Given the description of an element on the screen output the (x, y) to click on. 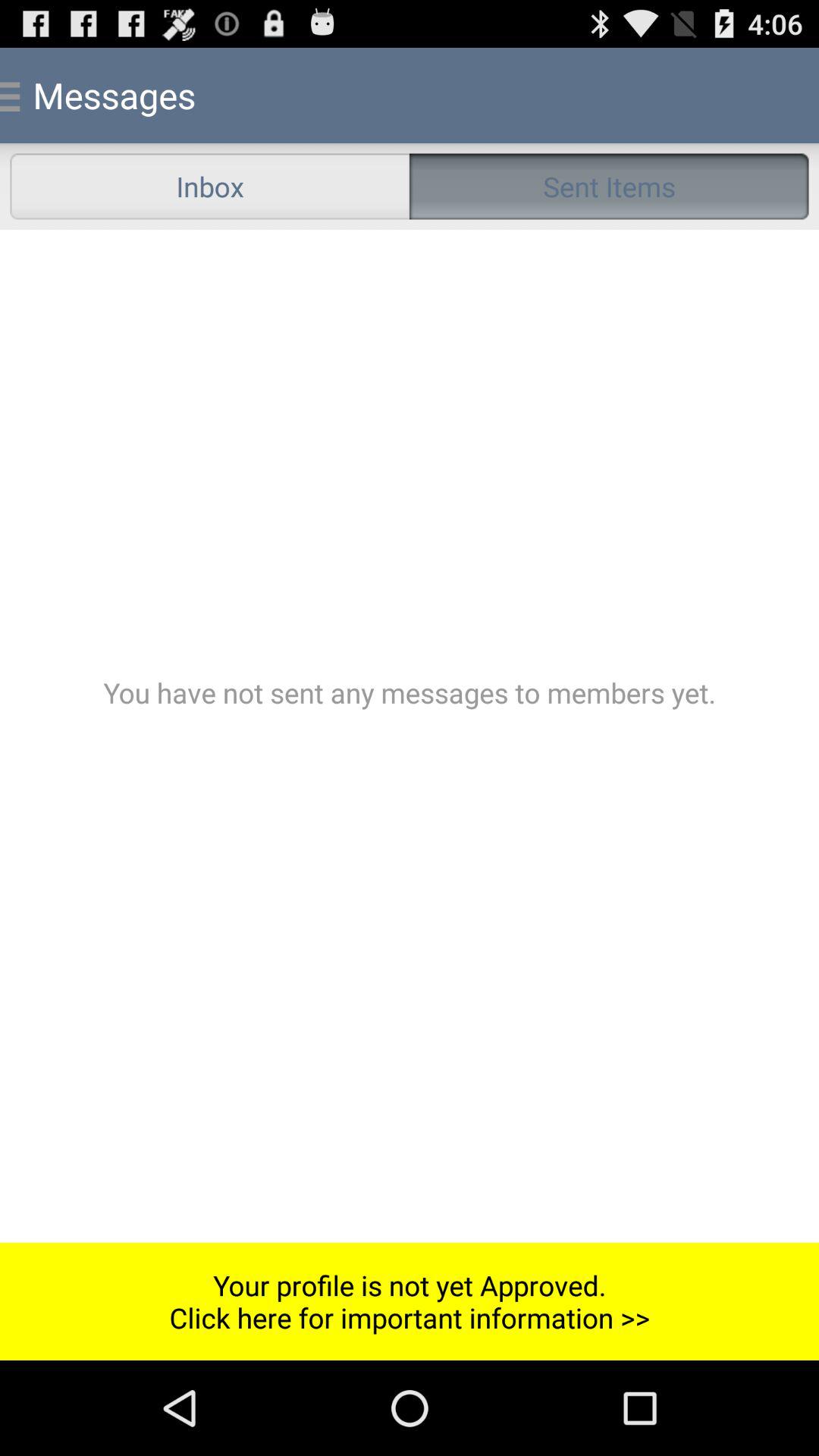
tap the your profile is item (409, 1301)
